Given the description of an element on the screen output the (x, y) to click on. 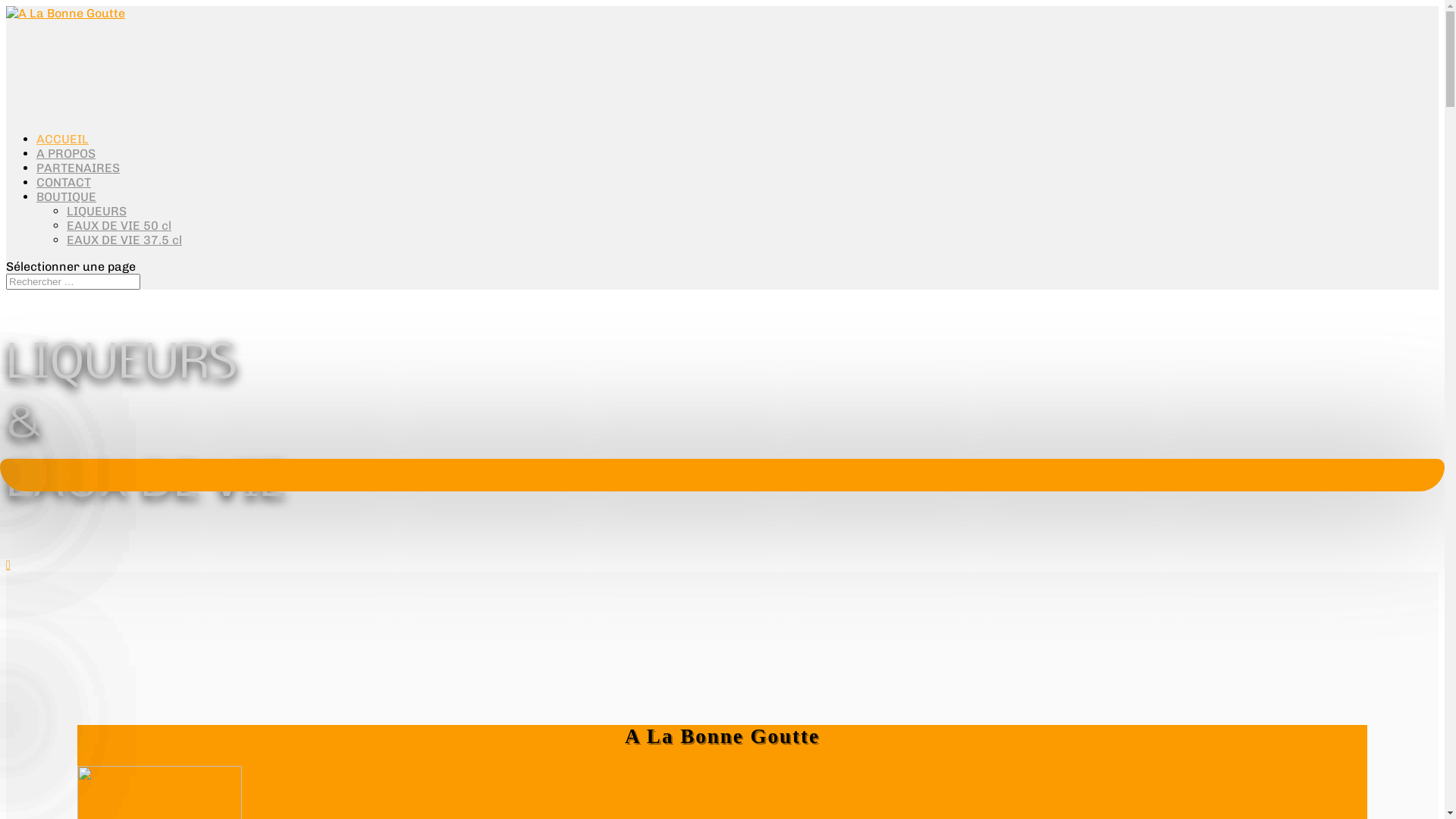
PARTENAIRES Element type: text (77, 167)
CONTACT Element type: text (63, 182)
EAUX DE VIE 37.5 cl Element type: text (124, 239)
LIQUEURS Element type: text (96, 210)
Rechercher: Element type: hover (73, 281)
A PROPOS Element type: text (65, 153)
BOUTIQUE Element type: text (66, 196)
EAUX DE VIE 50 cl Element type: text (118, 225)
ACCUEIL Element type: text (62, 138)
